Given the description of an element on the screen output the (x, y) to click on. 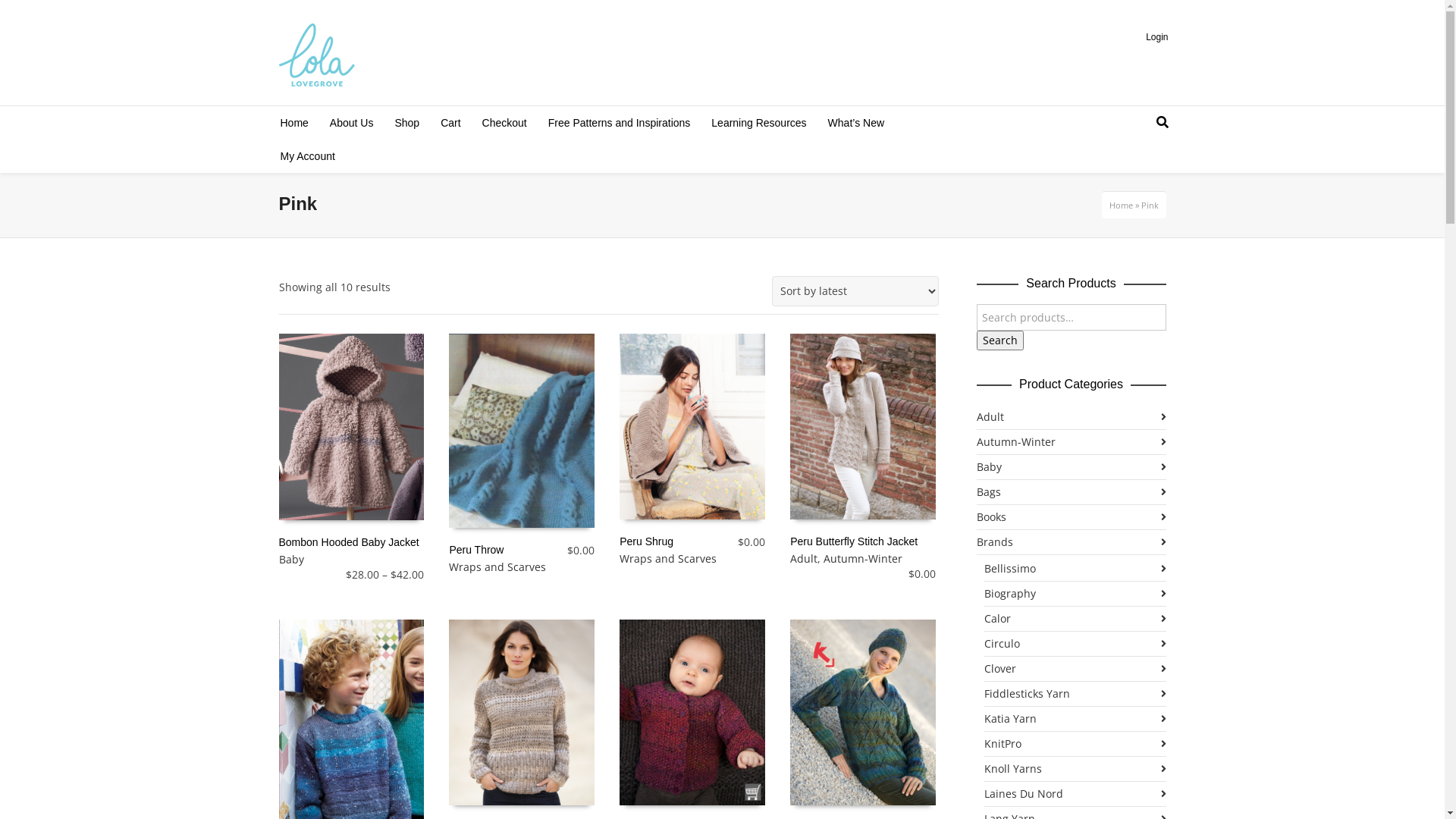
Bags Element type: text (1071, 492)
Peru Butterfly Stitch Jacket Element type: text (853, 541)
Checkout Element type: text (504, 122)
Home Element type: text (1120, 204)
My Account Element type: text (307, 155)
Bellissimo Element type: text (1075, 568)
Home Element type: text (294, 122)
Baby Element type: text (291, 559)
KnitPro Element type: text (1075, 743)
Brands Element type: text (1071, 542)
Free Patterns and Inspirations Element type: text (619, 122)
Learning Resources Element type: text (758, 122)
About Us Element type: text (351, 122)
Cart Element type: text (450, 122)
Knoll Yarns Element type: text (1075, 768)
Adult Element type: text (1071, 416)
Circulo Element type: text (1075, 643)
Autumn-Winter Element type: text (1071, 441)
Baby Element type: text (1071, 467)
Bombon Hooded Baby Jacket Element type: text (349, 542)
Search Element type: text (999, 340)
Calor Element type: text (1075, 618)
Wraps and Scarves Element type: text (497, 566)
Katia Yarn Element type: text (1075, 718)
Wraps and Scarves Element type: text (667, 558)
Biography Element type: text (1075, 593)
Adult Element type: text (803, 558)
Shop Element type: text (406, 122)
Autumn-Winter Element type: text (862, 558)
Peru Throw Element type: text (475, 549)
Laines Du Nord Element type: text (1075, 793)
Peru Shrug Element type: text (646, 541)
Clover Element type: text (1075, 668)
Login Element type: text (1160, 36)
Fiddlesticks Yarn Element type: text (1075, 693)
Books Element type: text (1071, 517)
